Given the description of an element on the screen output the (x, y) to click on. 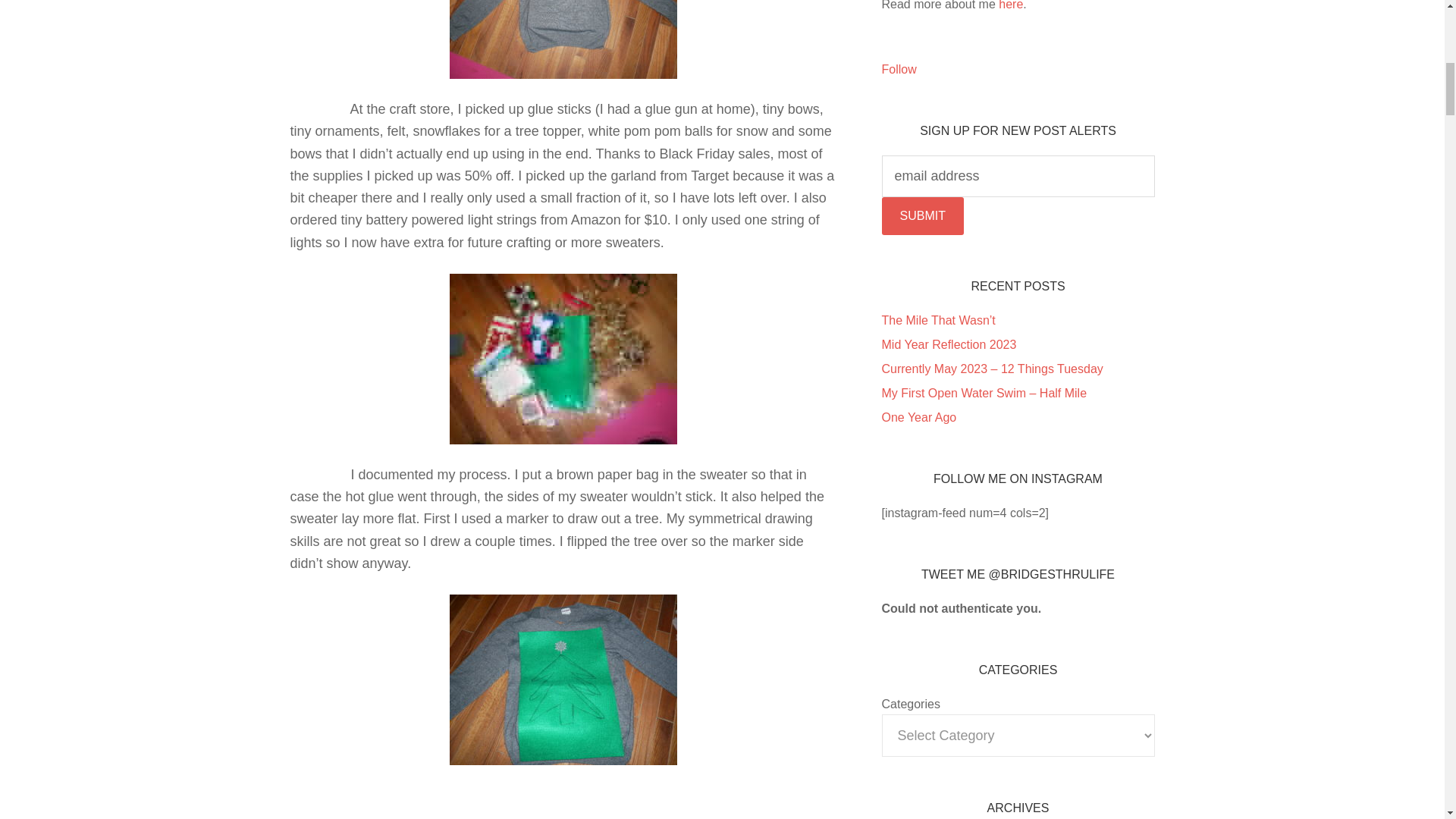
Submit (921, 216)
